Given the description of an element on the screen output the (x, y) to click on. 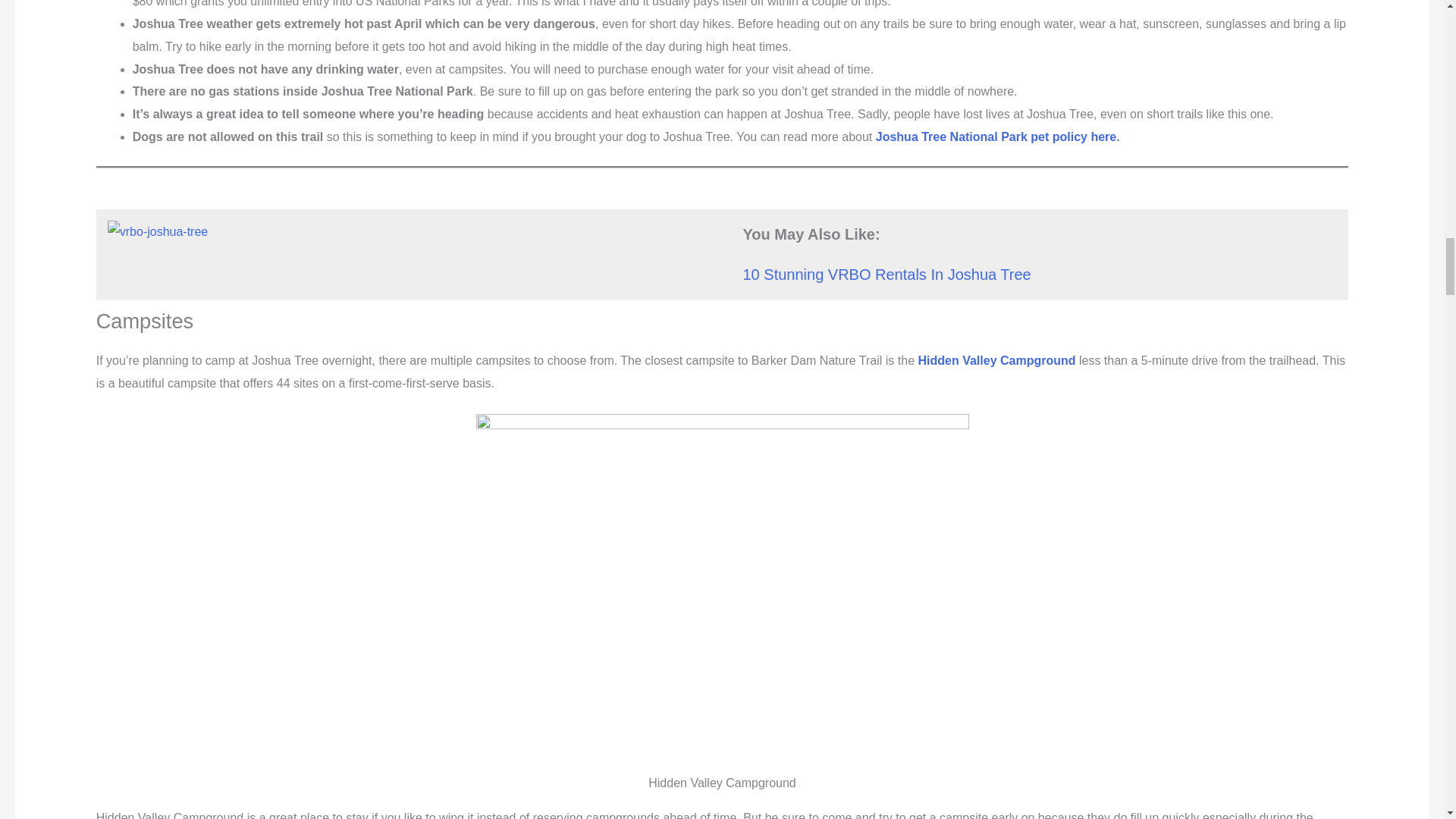
 Joshua Tree National Park pet policy here (994, 136)
Hidden Valley Campground (996, 359)
10 Stunning VRBO Rentals In Joshua Tree (886, 274)
